Given the description of an element on the screen output the (x, y) to click on. 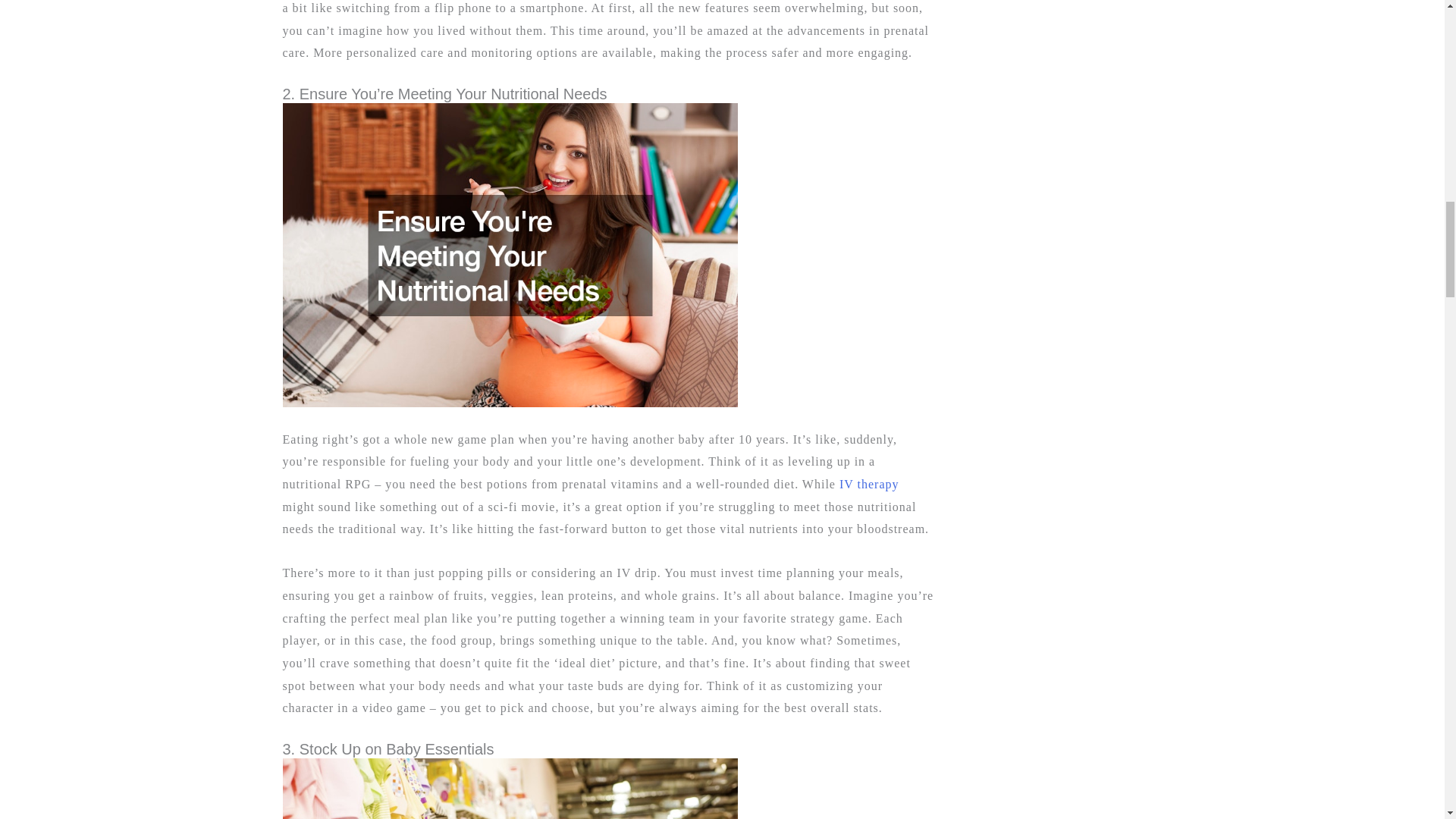
IV therapy (869, 483)
